Given the description of an element on the screen output the (x, y) to click on. 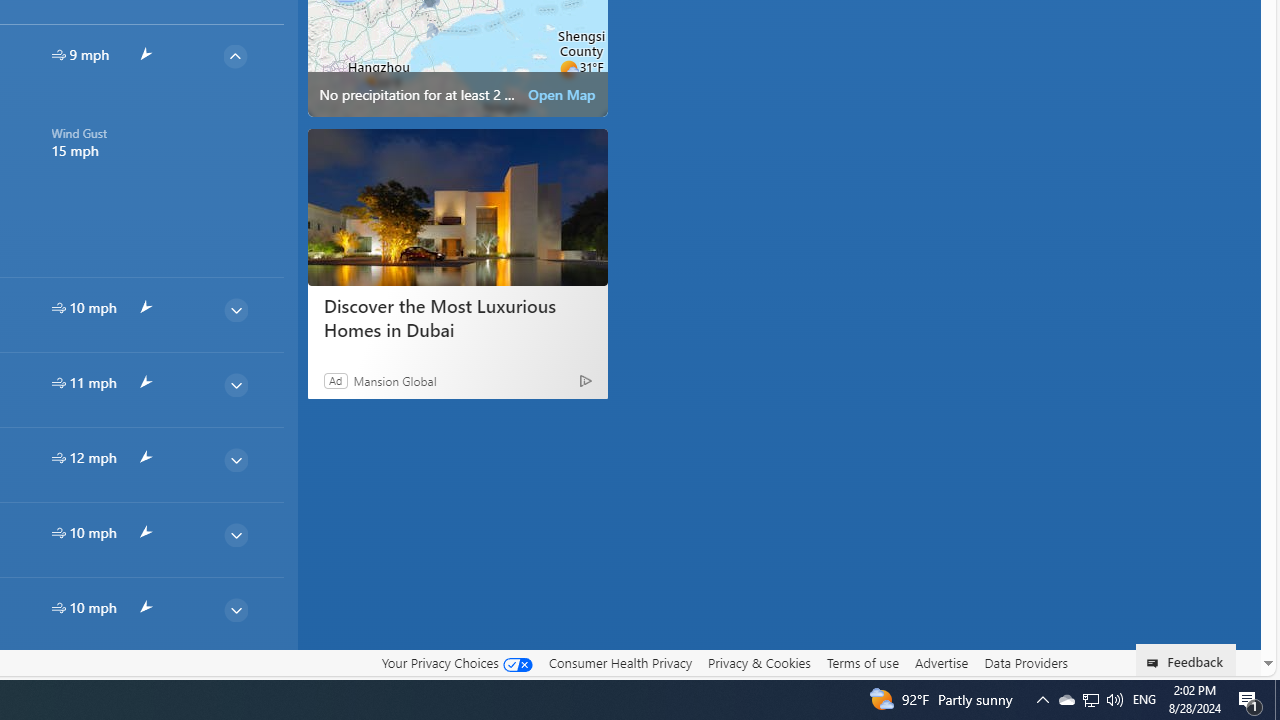
common/arrow (144, 682)
Your Privacy Choices (456, 662)
Discover the Most Luxurious Homes in Dubai (456, 317)
Consumer Health Privacy (619, 663)
hourlyTable/wind (58, 607)
Mansion Global (394, 380)
Class: feedback_link_icon-DS-EntryPoint1-1 (1156, 663)
